Given the description of an element on the screen output the (x, y) to click on. 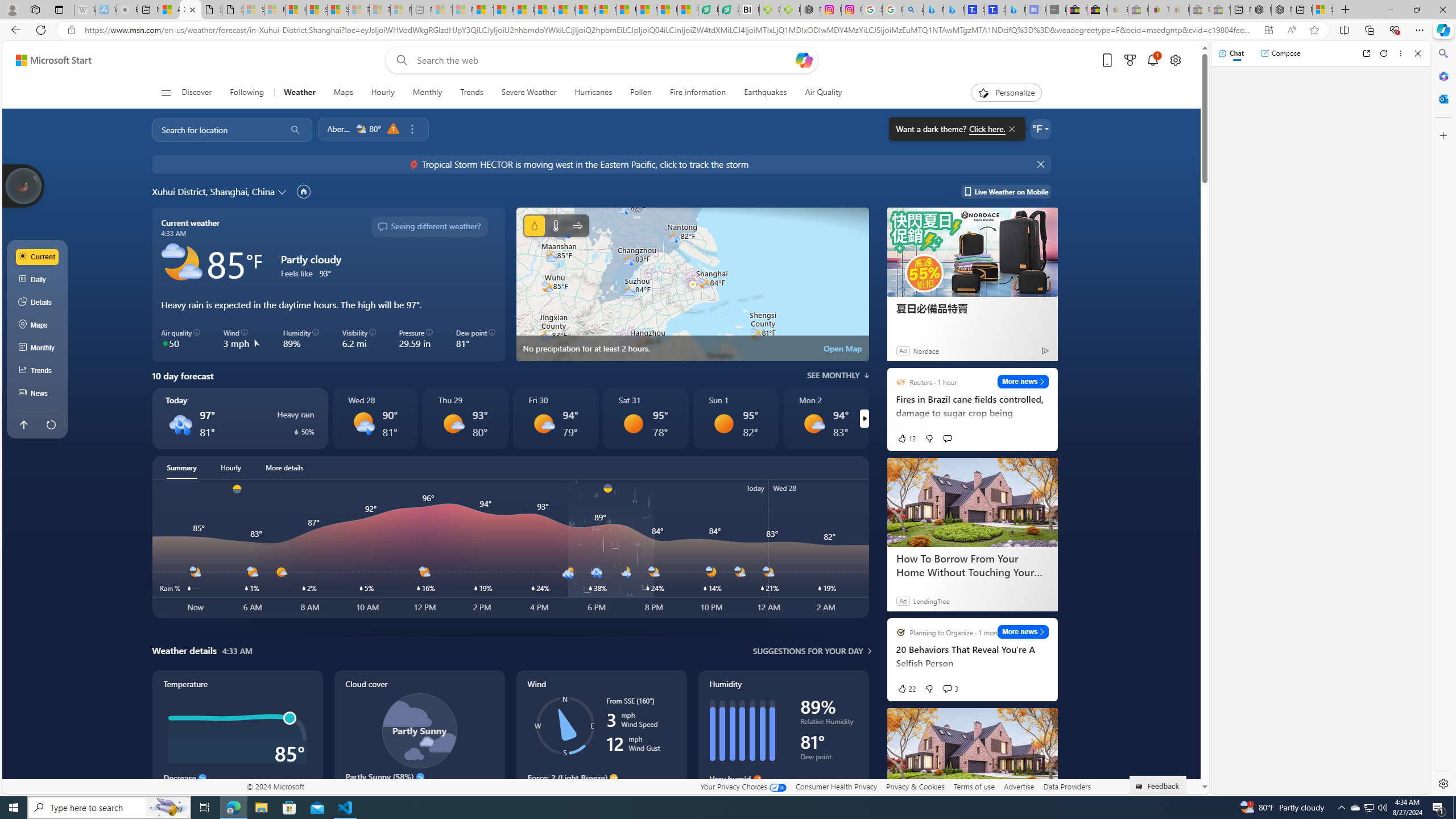
Weather (298, 92)
Food and Drink - MSN (503, 9)
Class: feedback_link_icon-DS-EntryPoint1-1 (1140, 786)
Monthly (37, 347)
Relative Humidity (828, 723)
Increasing with a peak of 90% at 5:00 AM. (783, 795)
Light rain showers (362, 422)
Ad Choice (1044, 350)
Class: BubbleMessageCloseIcon-DS-EntryPoint1-1 (1010, 128)
Open settings (1175, 60)
Pollen (641, 92)
